Given the description of an element on the screen output the (x, y) to click on. 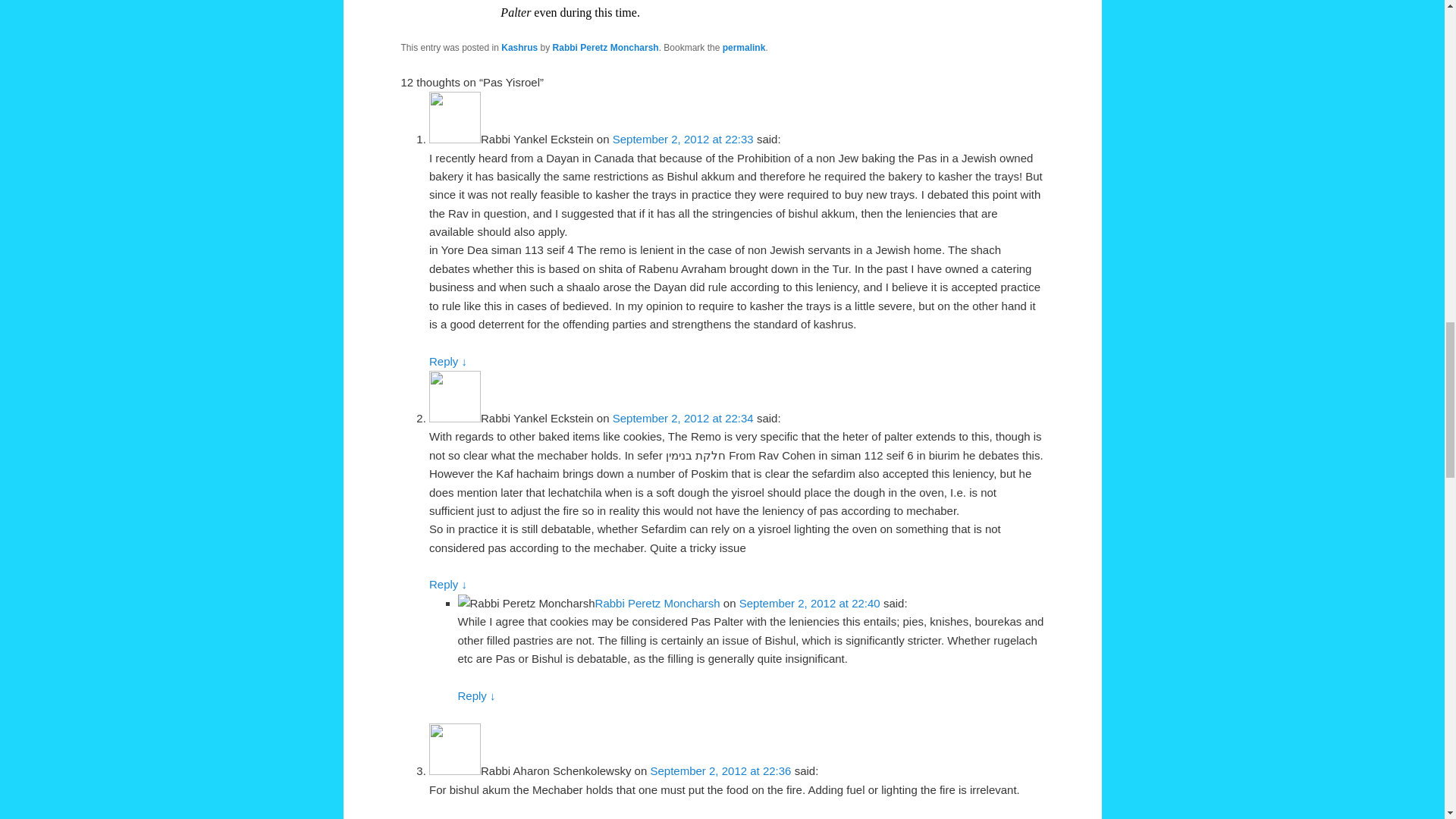
Permalink to Pas Yisroel (743, 47)
